Given the description of an element on the screen output the (x, y) to click on. 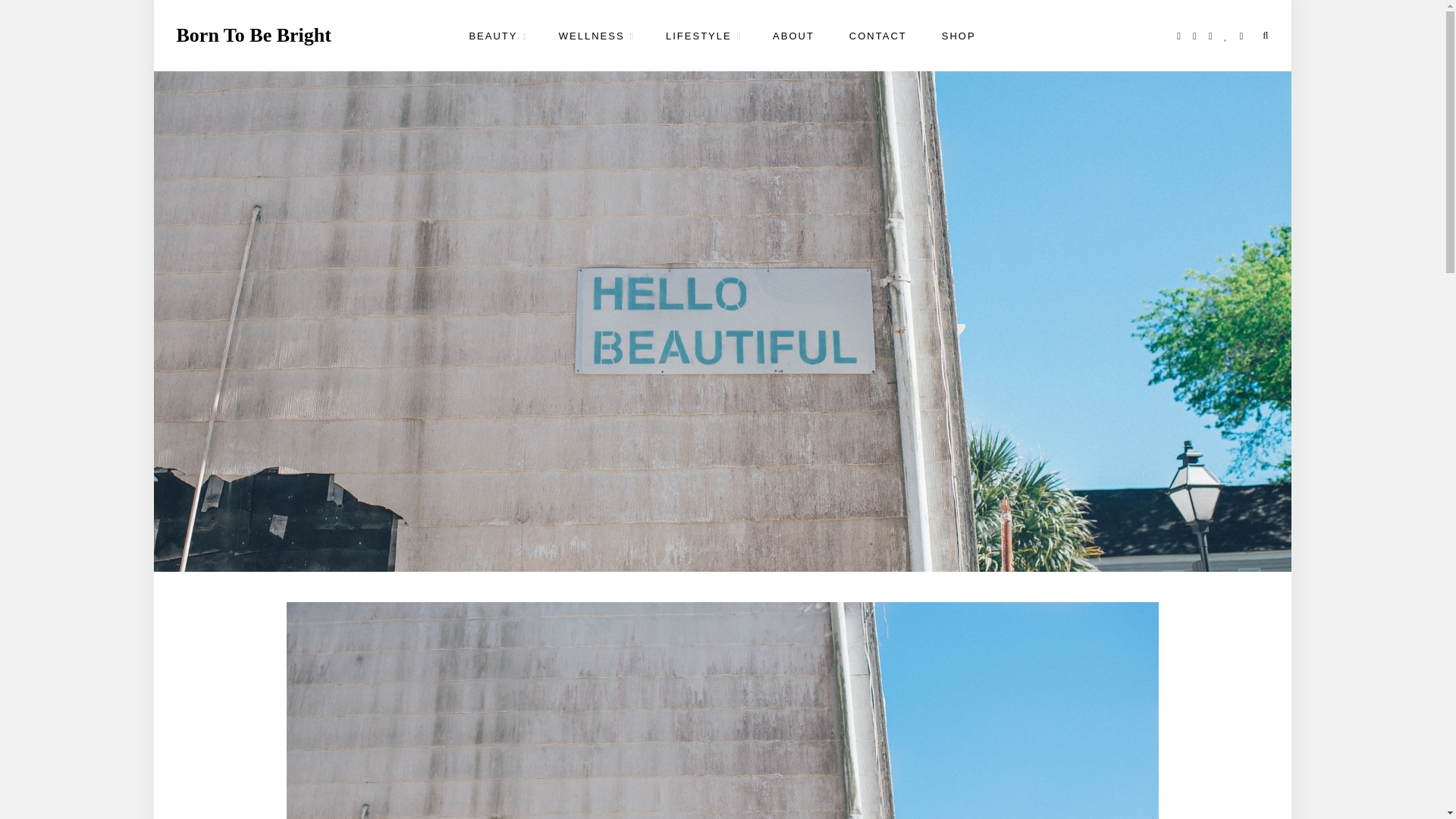
LIFESTYLE (701, 36)
WELLNESS (594, 36)
Born To Be Bright (253, 34)
